Given the description of an element on the screen output the (x, y) to click on. 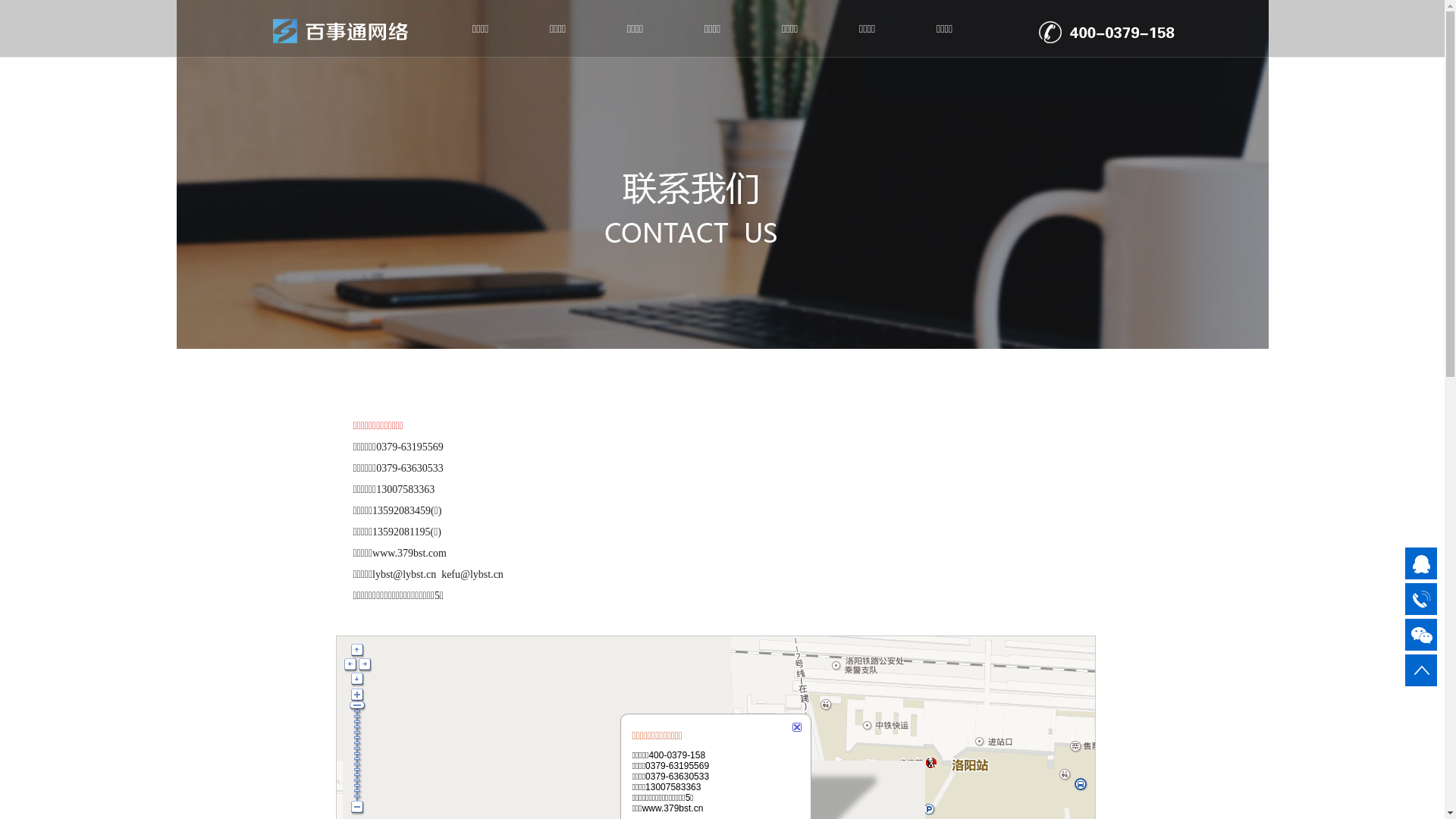
kefu@lybst.cn Element type: text (472, 573)
lybst@lybst.cn Element type: text (404, 573)
www.379bst.com Element type: text (409, 552)
